Given the description of an element on the screen output the (x, y) to click on. 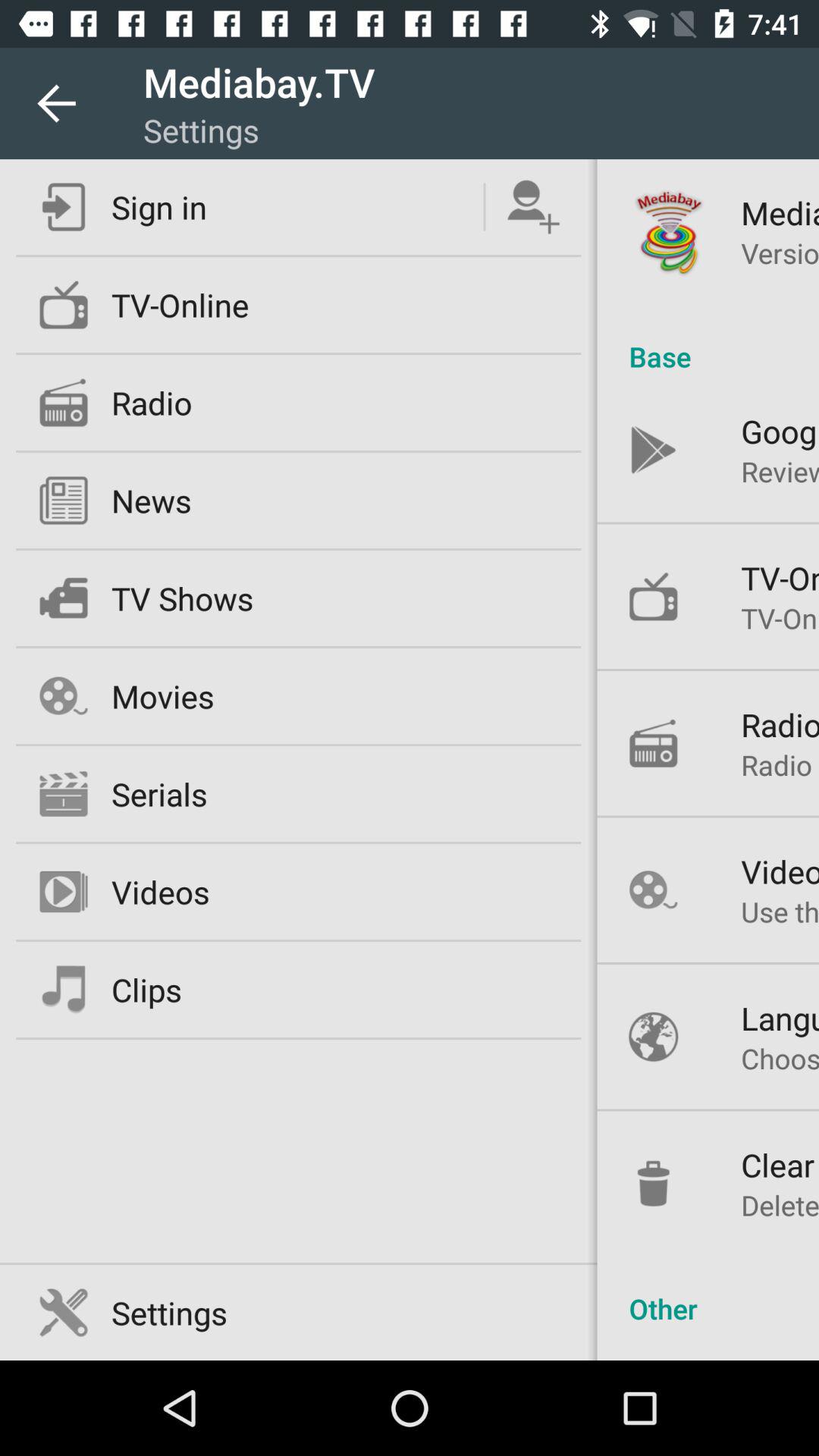
launch news (151, 500)
